Given the description of an element on the screen output the (x, y) to click on. 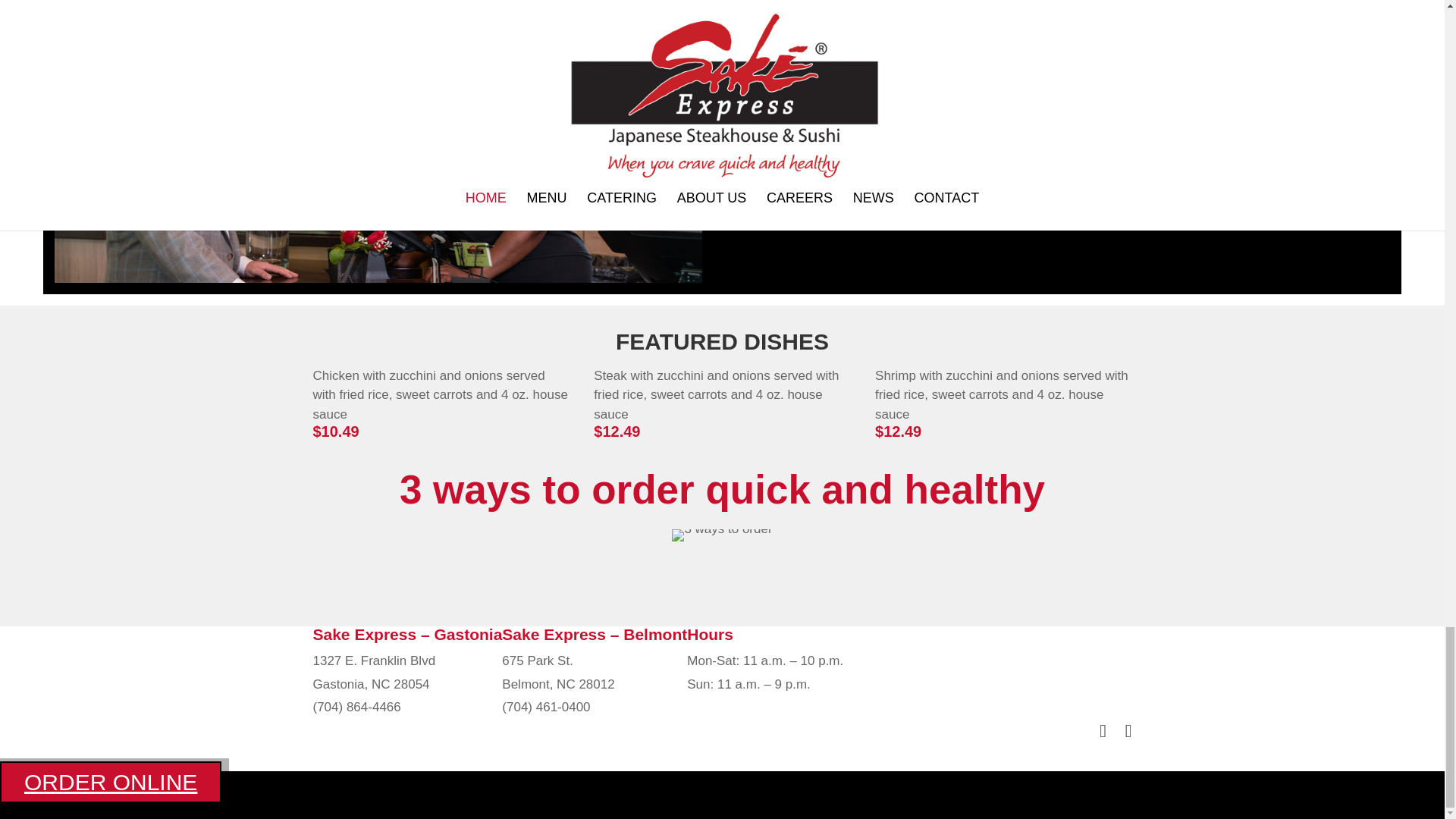
Privacy Policy (721, 806)
